Given the description of an element on the screen output the (x, y) to click on. 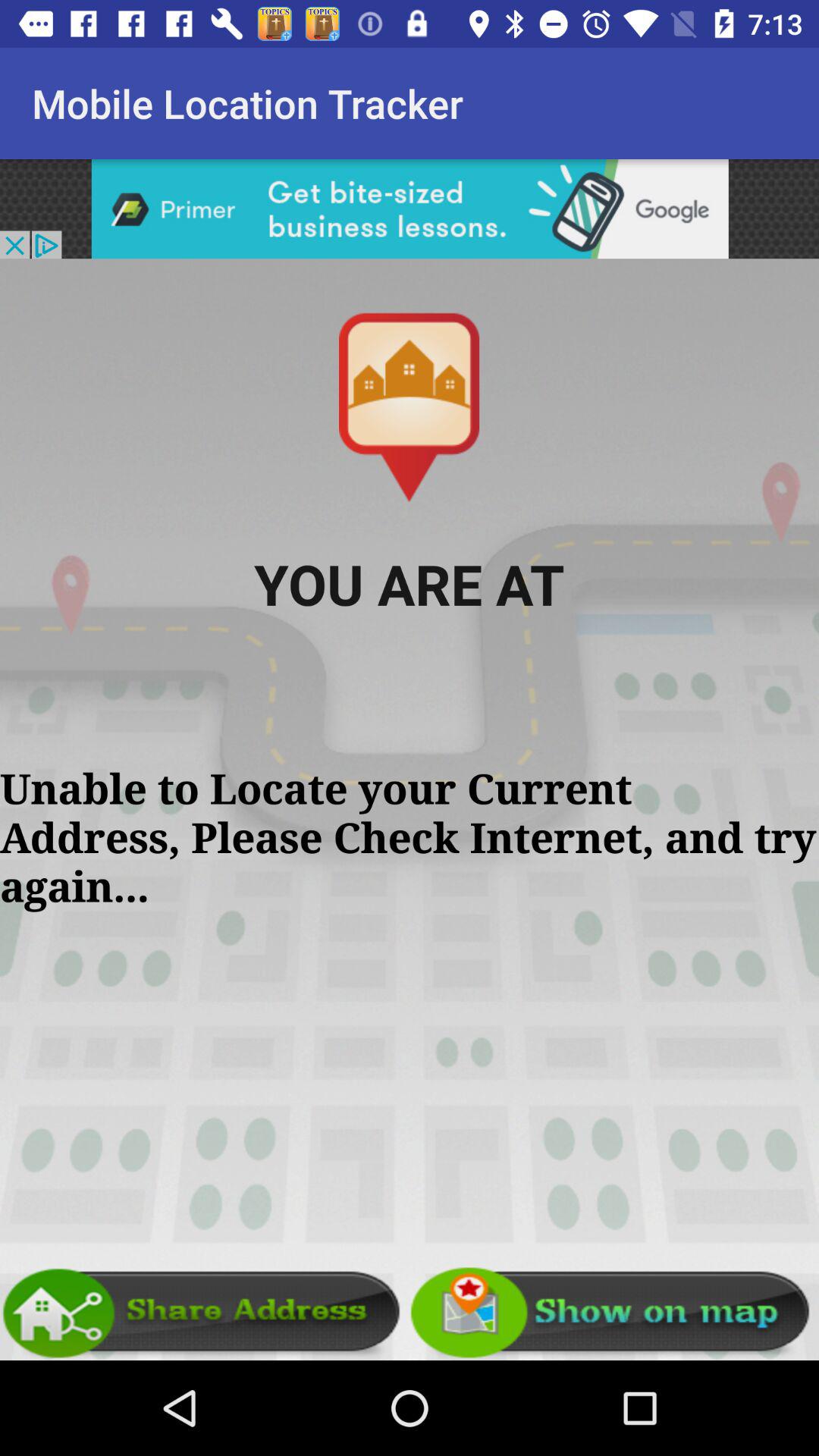
share button (204, 1312)
